Given the description of an element on the screen output the (x, y) to click on. 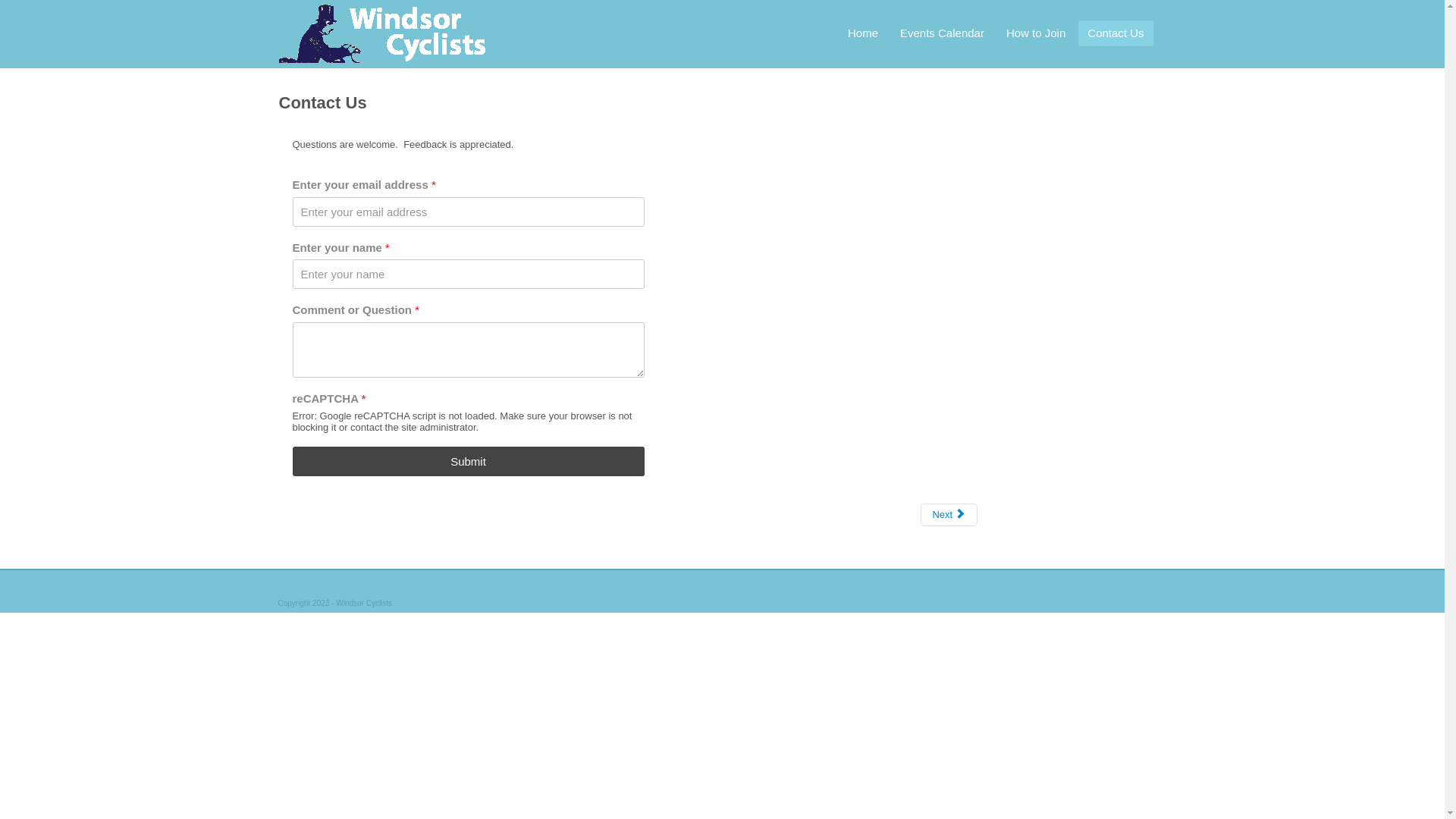
How to Join Element type: text (1035, 33)
Next Element type: text (948, 514)
Submit Element type: text (468, 461)
Contact Us Element type: text (1115, 33)
Home Element type: text (862, 33)
Events Calendar Element type: text (942, 33)
